Given the description of an element on the screen output the (x, y) to click on. 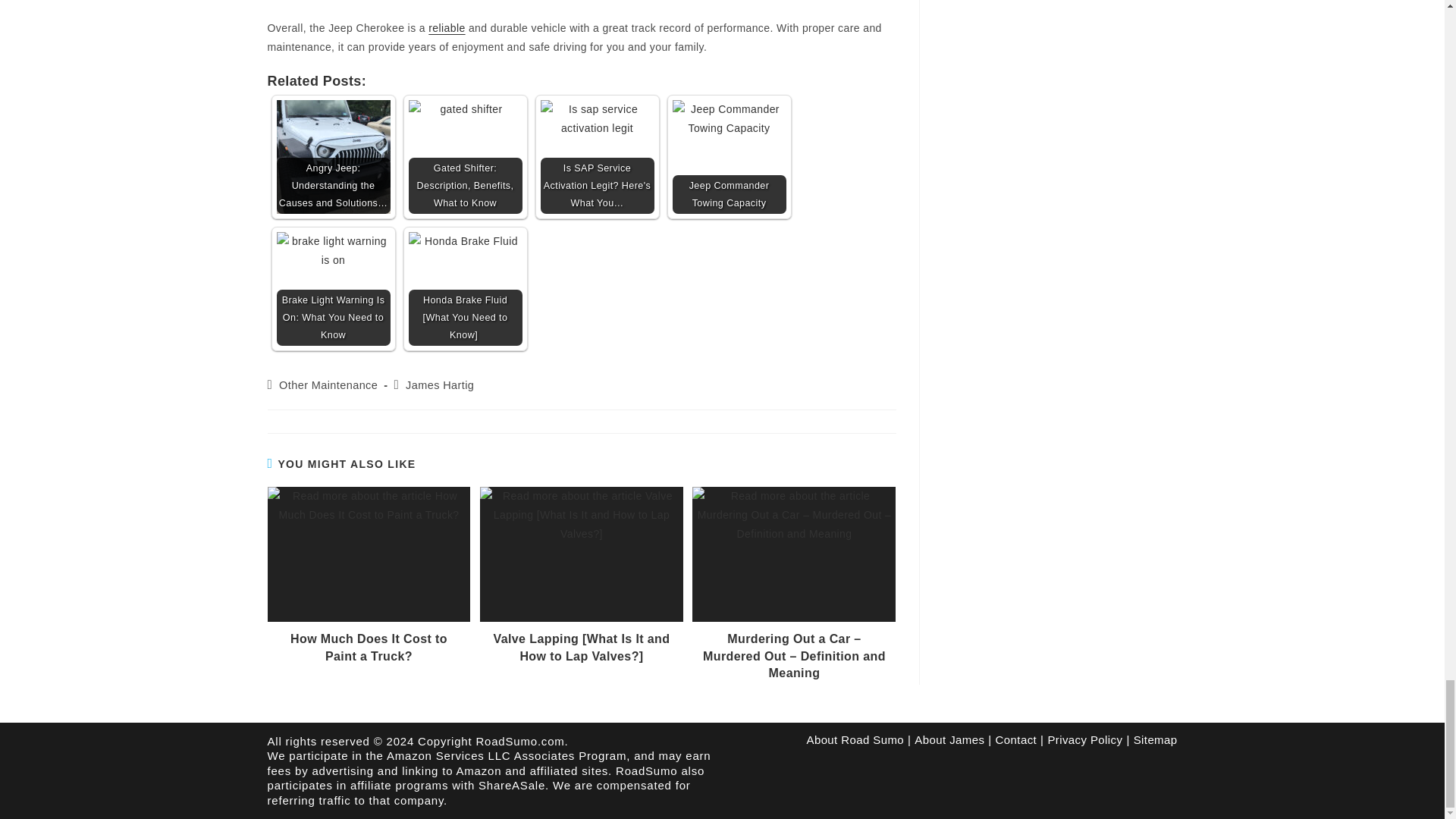
Jeep Commander Towing Capacity (728, 156)
Brake Light Warning Is On: What You Need to Know (333, 288)
Posts by James Hartig (440, 385)
Gated Shifter: Description, Benefits, What to Know (464, 156)
